Given the description of an element on the screen output the (x, y) to click on. 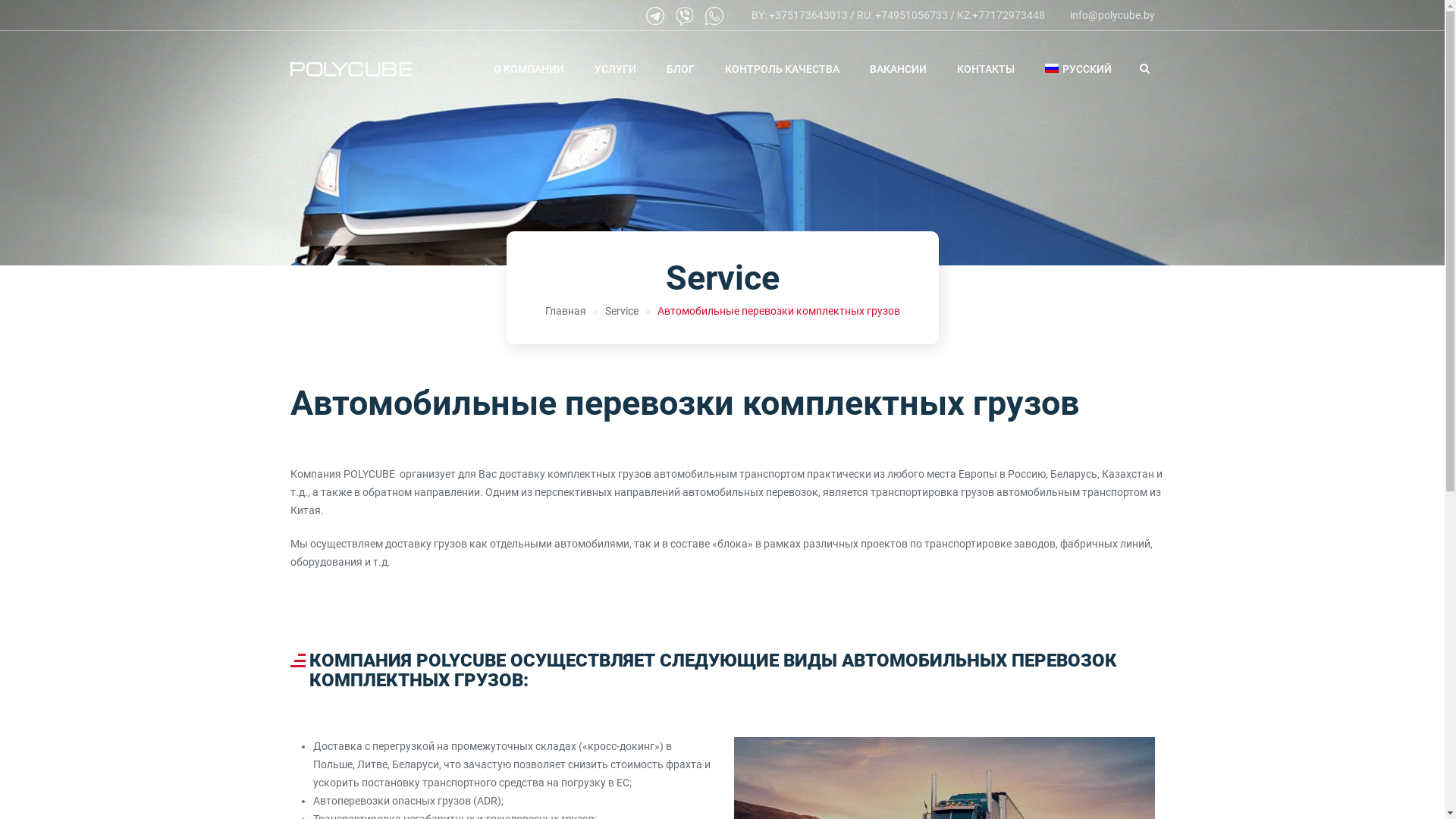
POLYCUBE Element type: text (368, 473)
BY: +375173643013 / RU: +74951056733 / KZ:+77172973448 Element type: text (897, 15)
Service Element type: text (621, 310)
info@polycube.by Element type: text (1111, 15)
Polycube Element type: hover (350, 69)
